Given the description of an element on the screen output the (x, y) to click on. 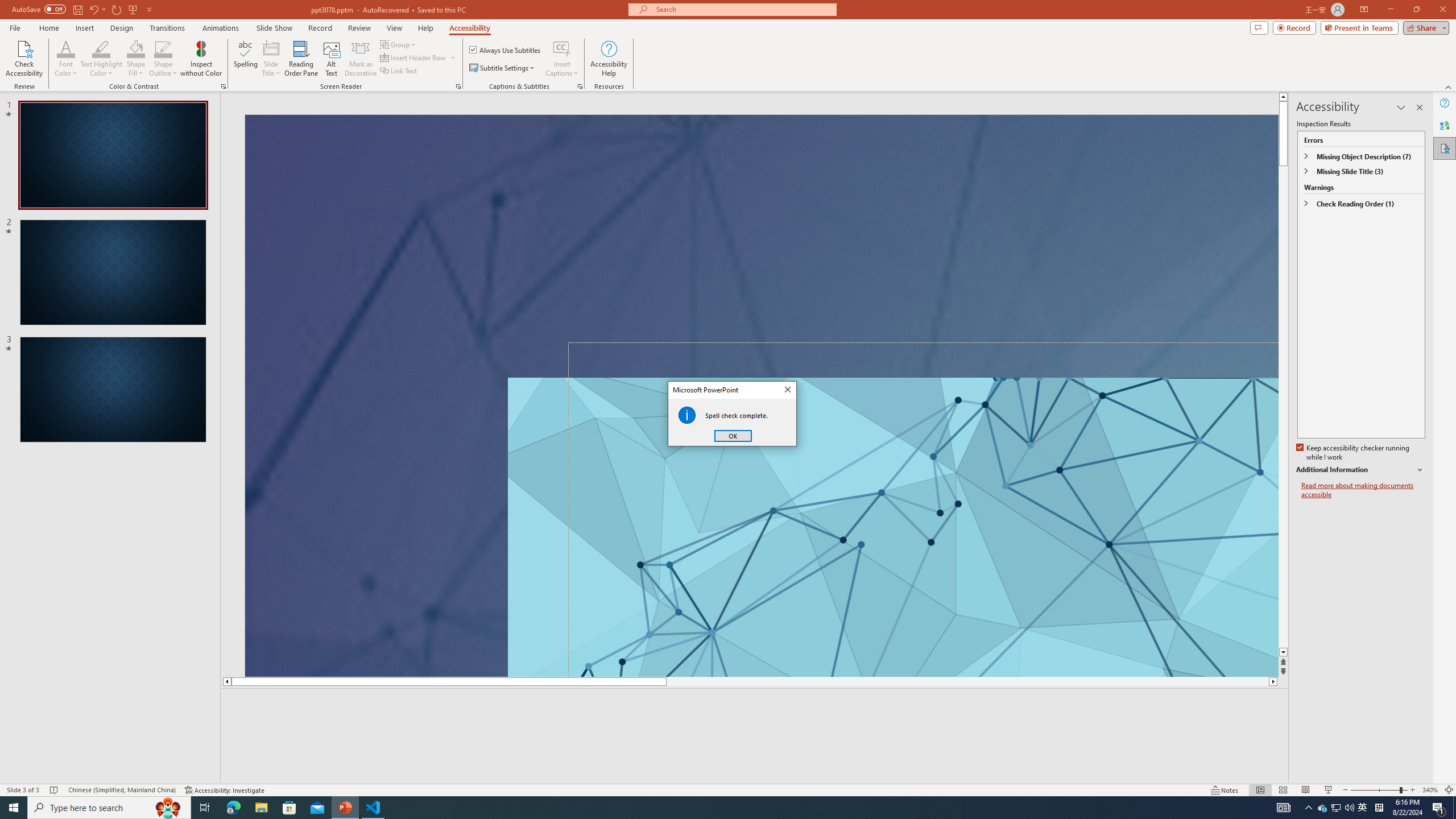
Class: Static (686, 415)
Screen Reader (458, 85)
Accessibility Help (1322, 807)
